Given the description of an element on the screen output the (x, y) to click on. 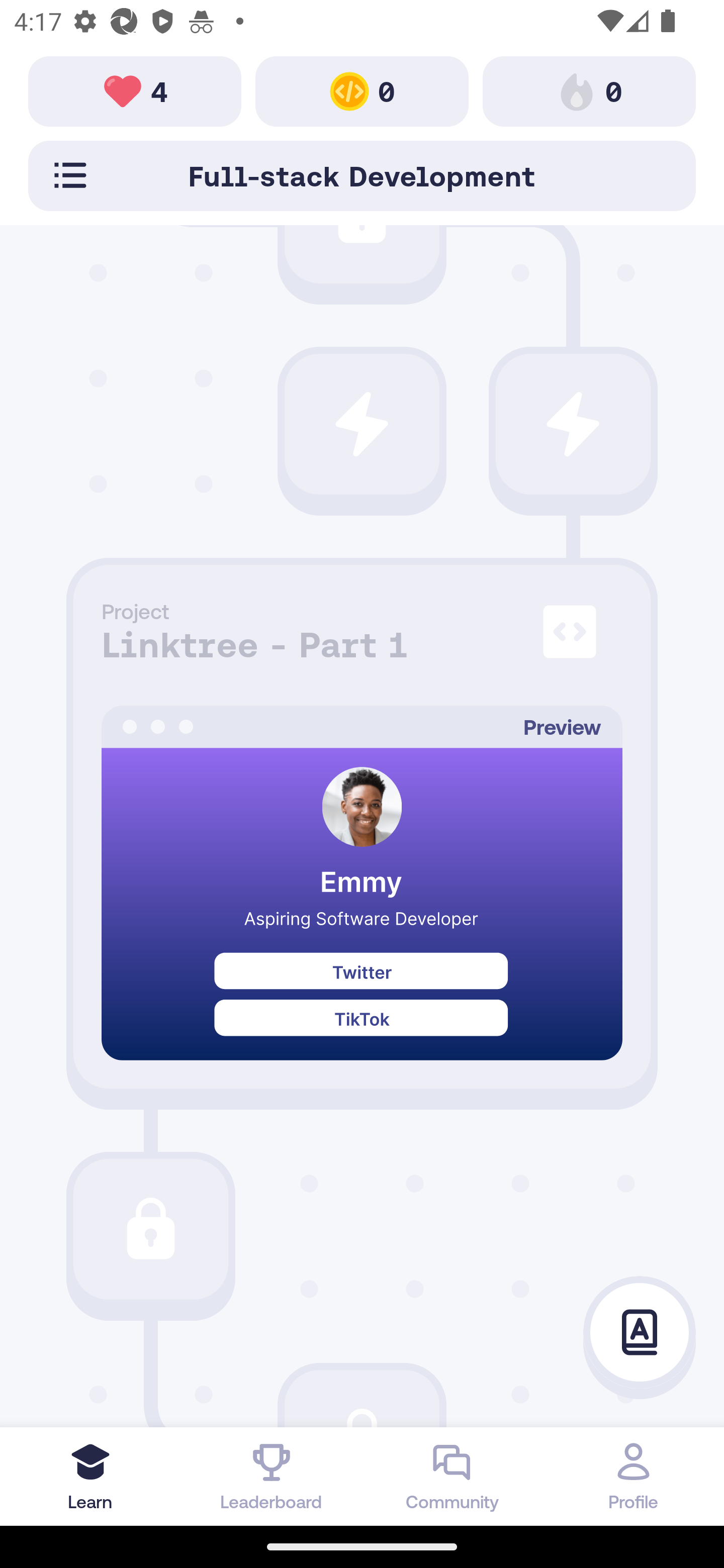
Path Toolbar Image 4 (134, 90)
Path Toolbar Image 0 (361, 90)
Path Toolbar Image 0 (588, 90)
Path Toolbar Selector Full-stack Development (361, 175)
Glossary Icon (639, 1332)
Leaderboard (271, 1475)
Community (452, 1475)
Profile (633, 1475)
